Given the description of an element on the screen output the (x, y) to click on. 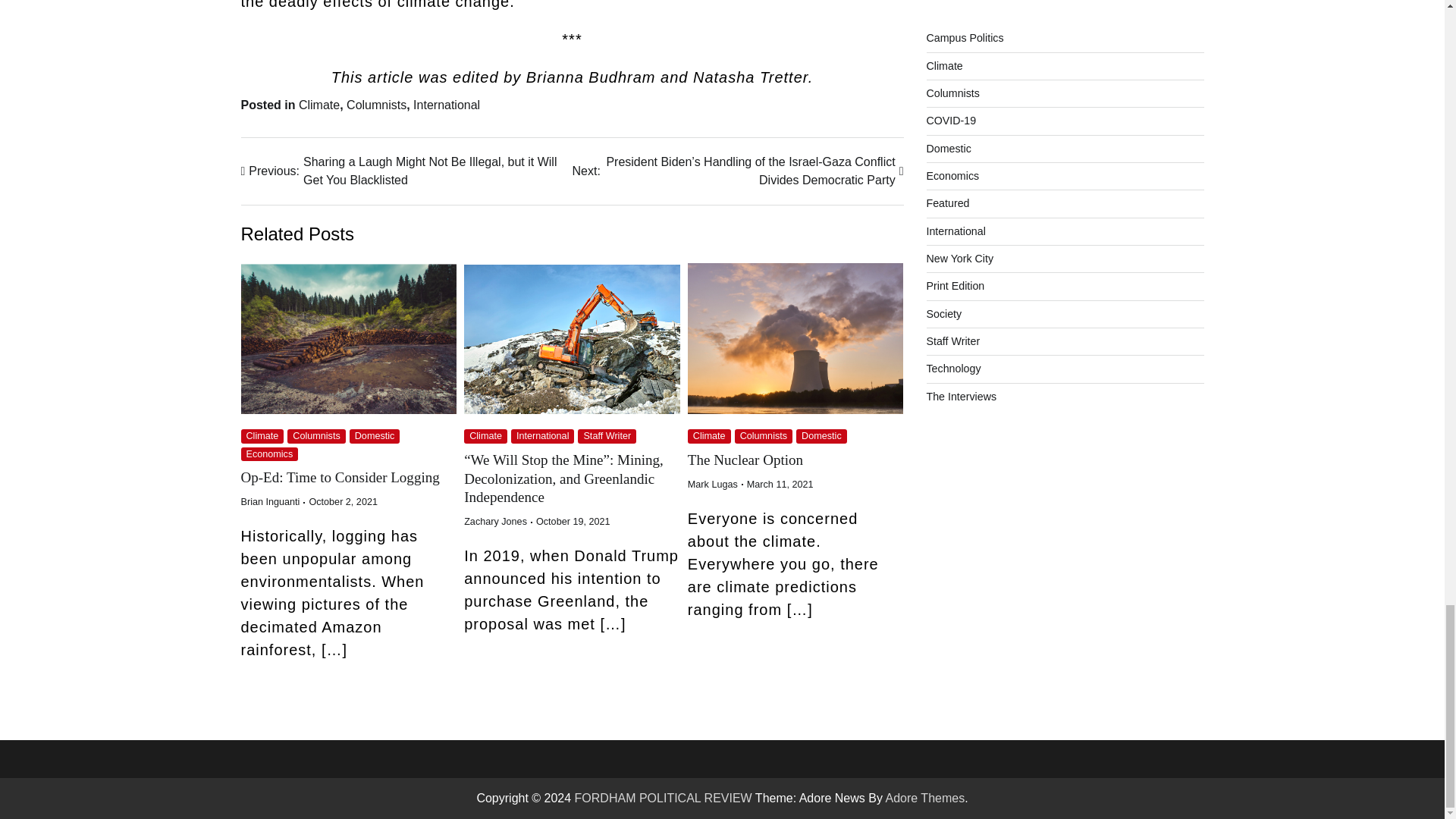
International (446, 104)
Columnists (376, 104)
Climate (318, 104)
